Given the description of an element on the screen output the (x, y) to click on. 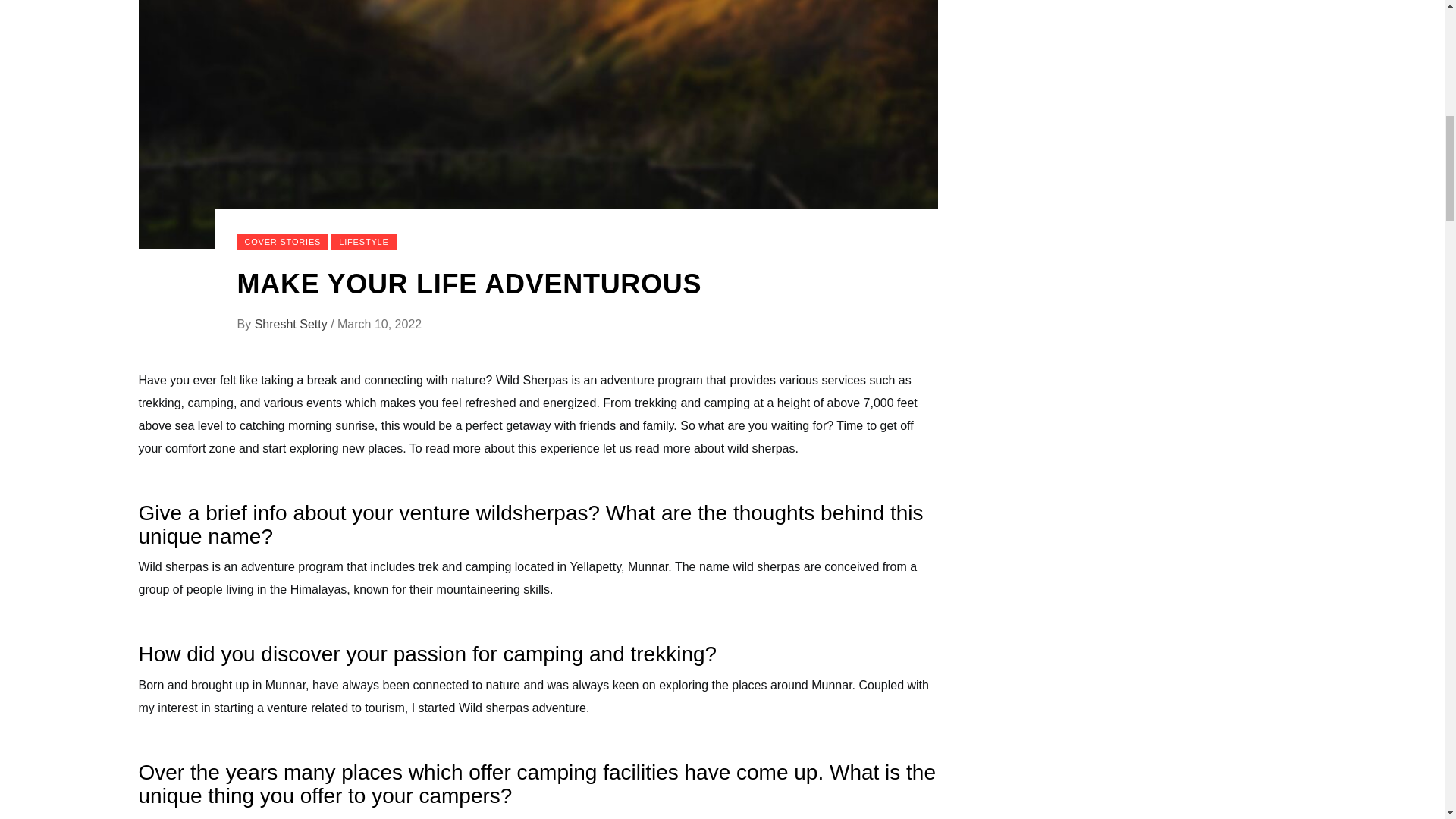
LIFESTYLE (363, 242)
Shresht Setty (292, 323)
COVER STORIES (282, 242)
